Given the description of an element on the screen output the (x, y) to click on. 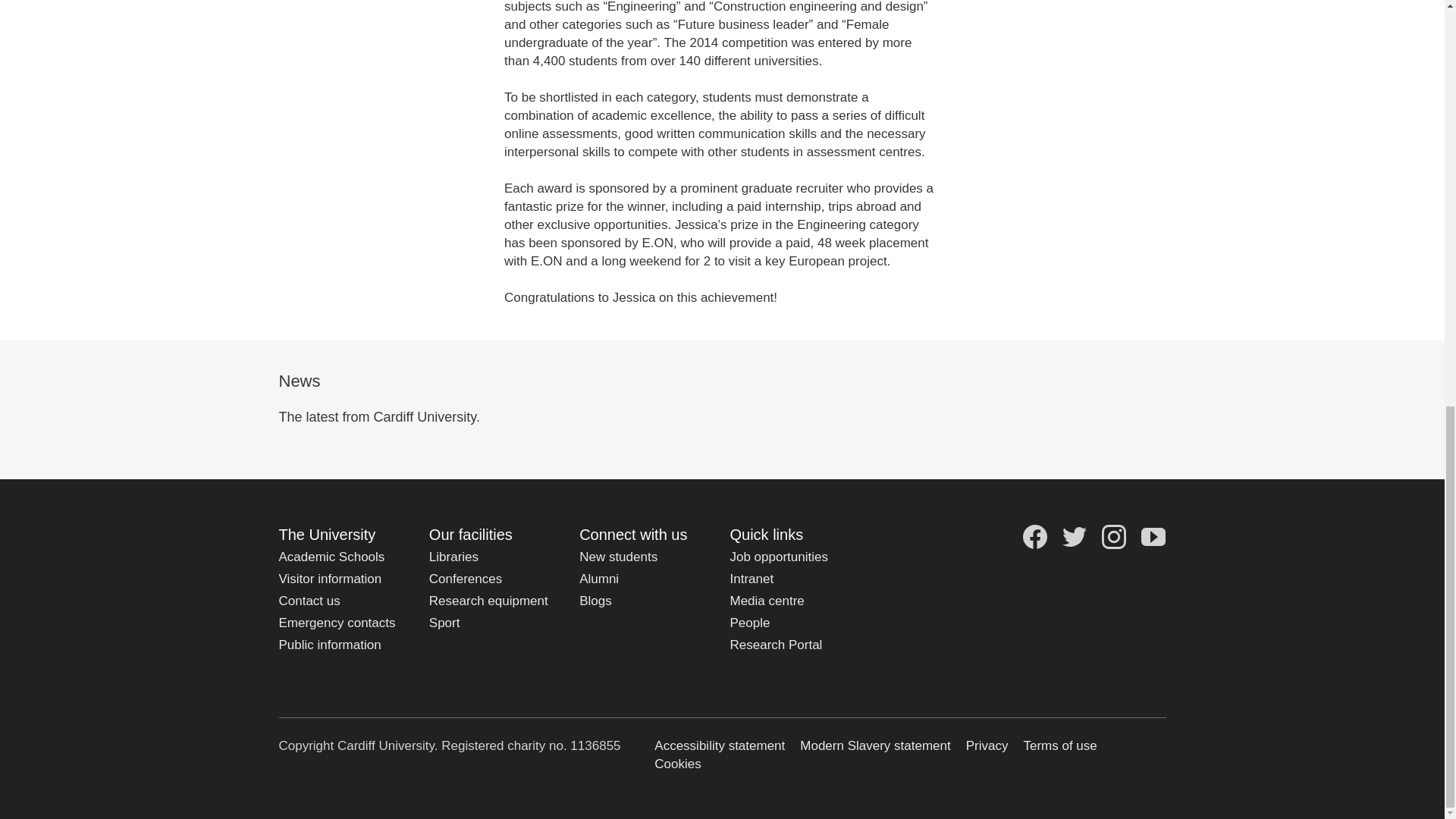
Youtube (1153, 536)
twitter no background icon (1074, 536)
instagram (1113, 536)
facebook (1034, 536)
